Given the description of an element on the screen output the (x, y) to click on. 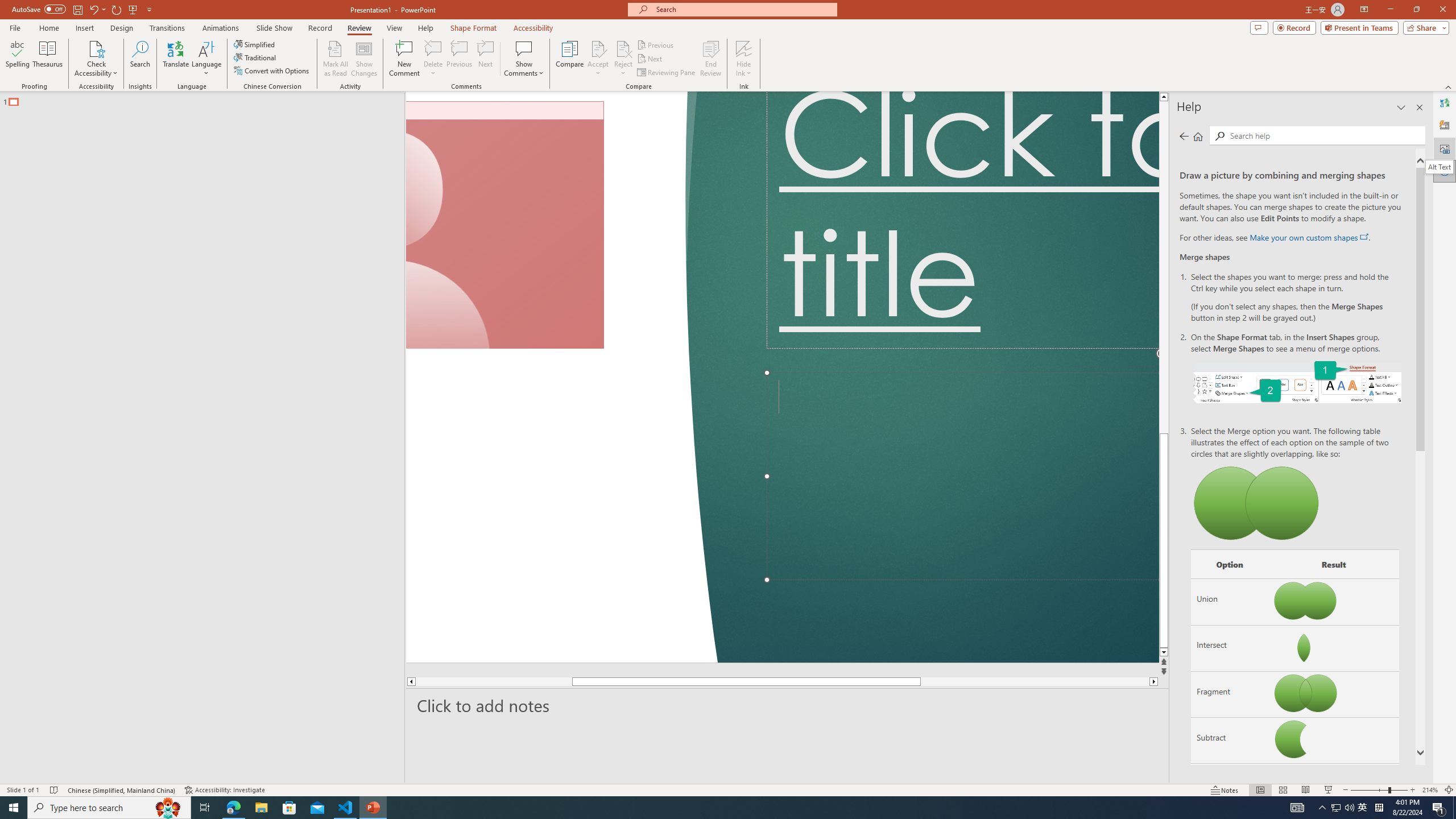
Present in Teams (1359, 27)
Class: MsoCommandBar (728, 789)
Design (122, 28)
Convert with Options... (272, 69)
Record (320, 28)
Check Accessibility (95, 48)
Zoom (1379, 790)
Reading View (1305, 790)
Search (1325, 135)
Union (1229, 601)
Accept Change (598, 48)
Animations (220, 28)
Slide Notes (787, 705)
Help (1444, 170)
